Given the description of an element on the screen output the (x, y) to click on. 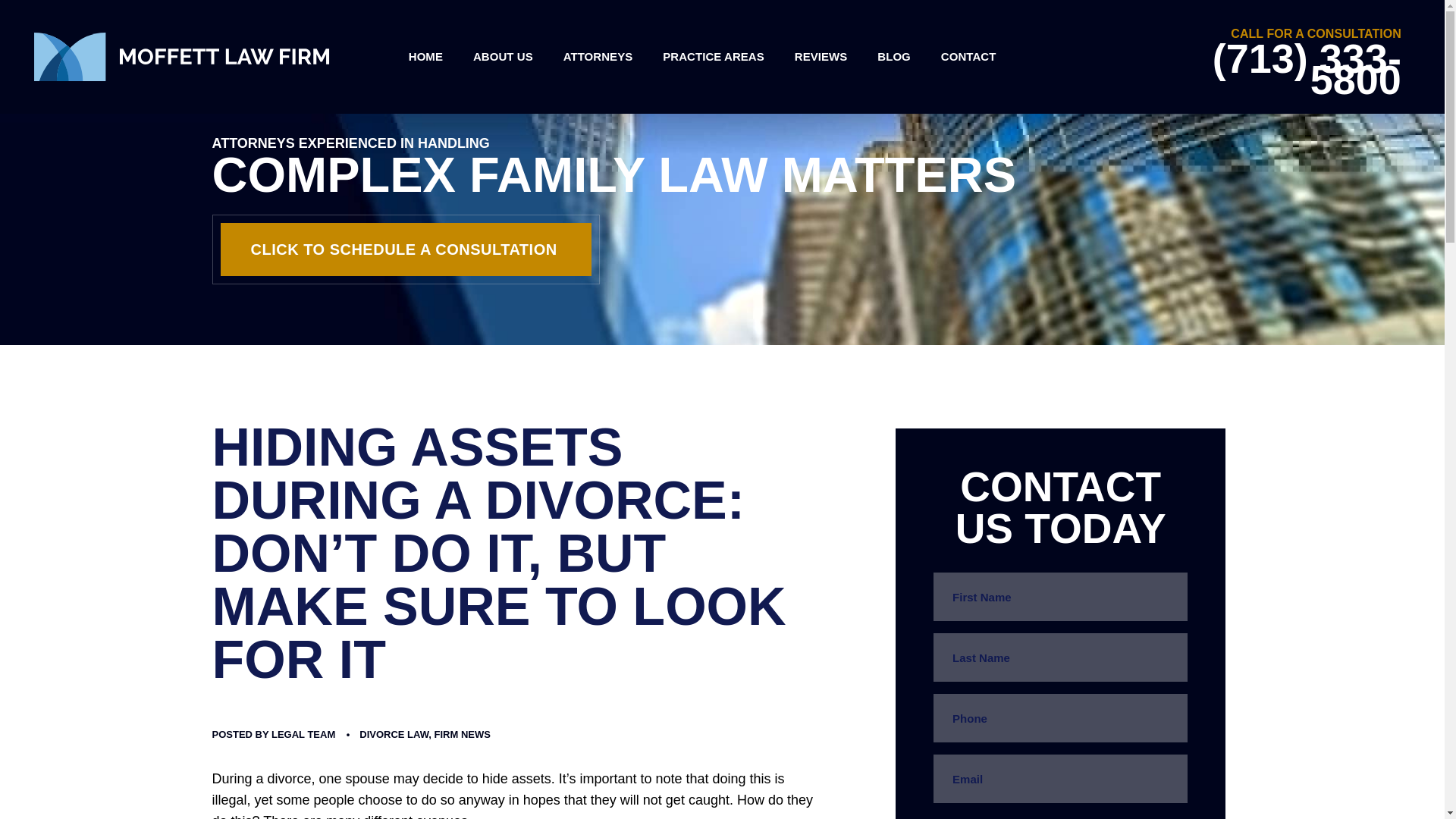
HOME (425, 56)
ATTORNEYS (597, 56)
REVIEWS (820, 56)
PRACTICE AREAS (712, 56)
BLOG (893, 56)
ABOUT US (503, 56)
CONTACT (968, 56)
